Given the description of an element on the screen output the (x, y) to click on. 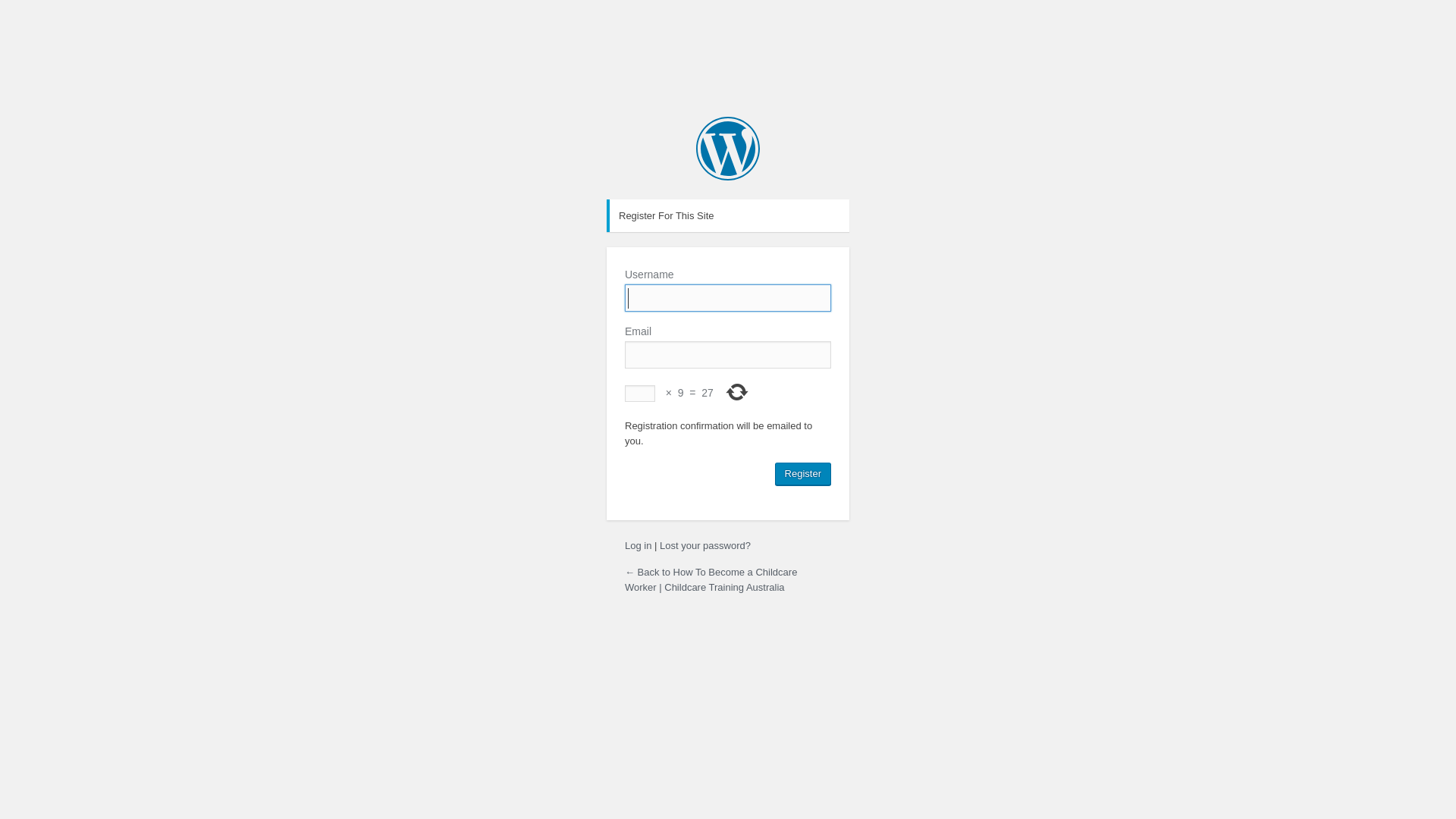
Powered by WordPress Element type: text (727, 148)
Register Element type: text (803, 473)
Log in Element type: text (637, 545)
Lost your password? Element type: text (704, 545)
